Given the description of an element on the screen output the (x, y) to click on. 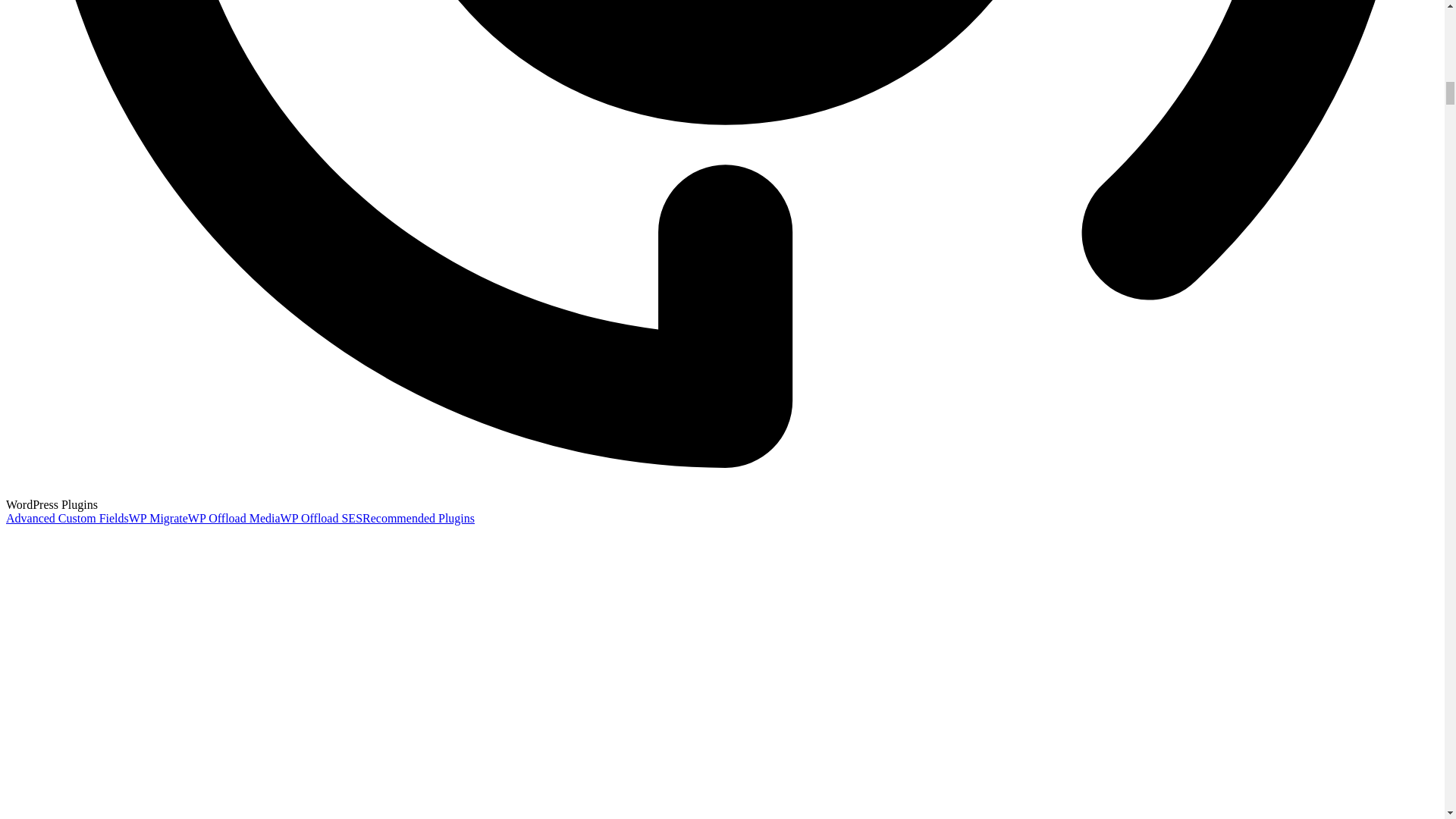
Advanced Custom Fields (67, 517)
WP Migrate (158, 517)
WP Offload SES (321, 517)
WP Offload Media (234, 517)
